Given the description of an element on the screen output the (x, y) to click on. 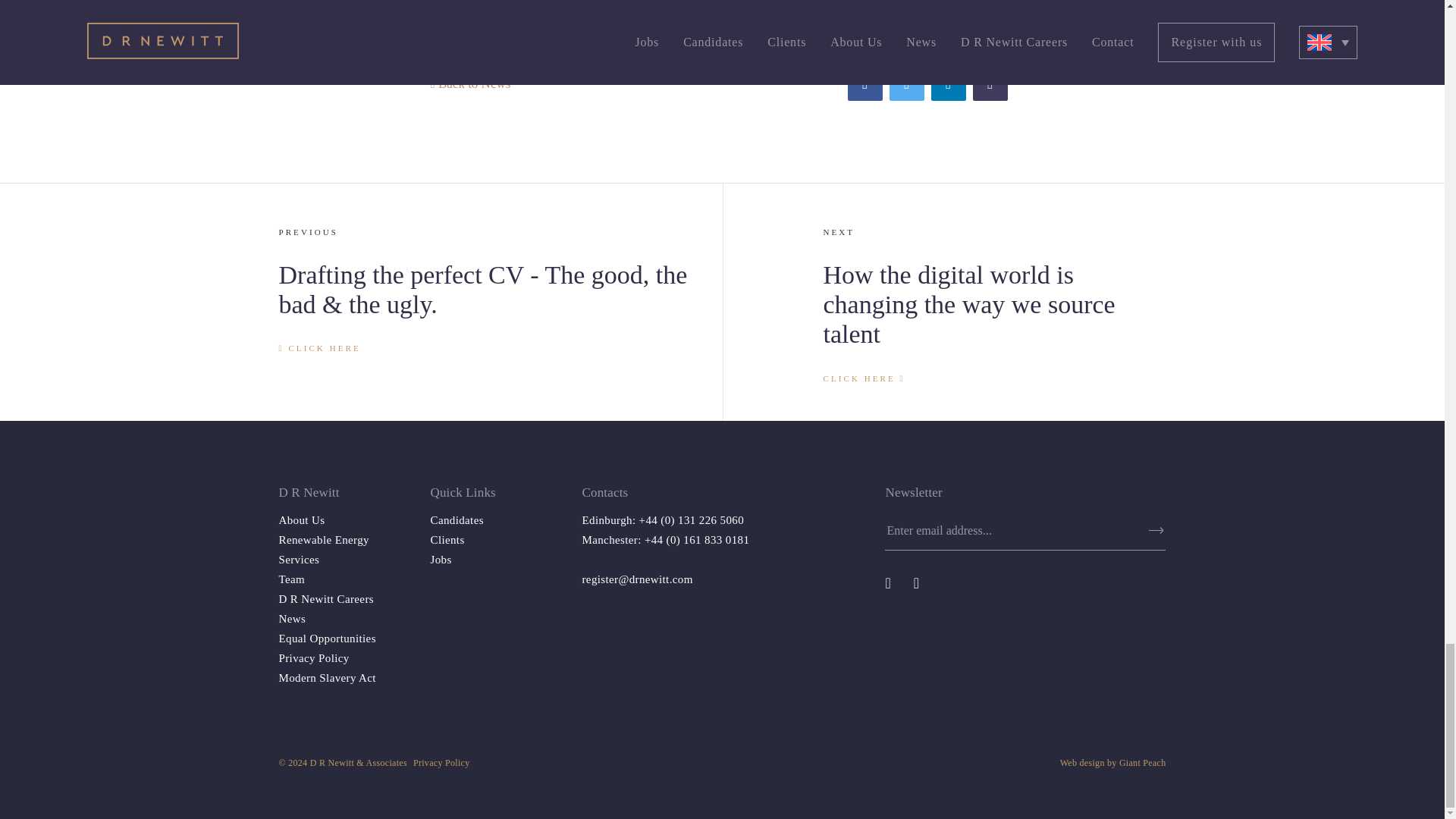
Privacy Policy (441, 762)
Modern Slavery Act (327, 677)
About Us (301, 520)
Web design by Giant Peach (1112, 762)
Renewable Energy (324, 539)
Jobs (440, 559)
Back to News (470, 83)
Privacy Policy (314, 657)
D R Newitt Careers (326, 598)
Clients (447, 539)
Services (299, 559)
Equal Opportunities (327, 638)
Candidates (456, 520)
News (292, 618)
